Given the description of an element on the screen output the (x, y) to click on. 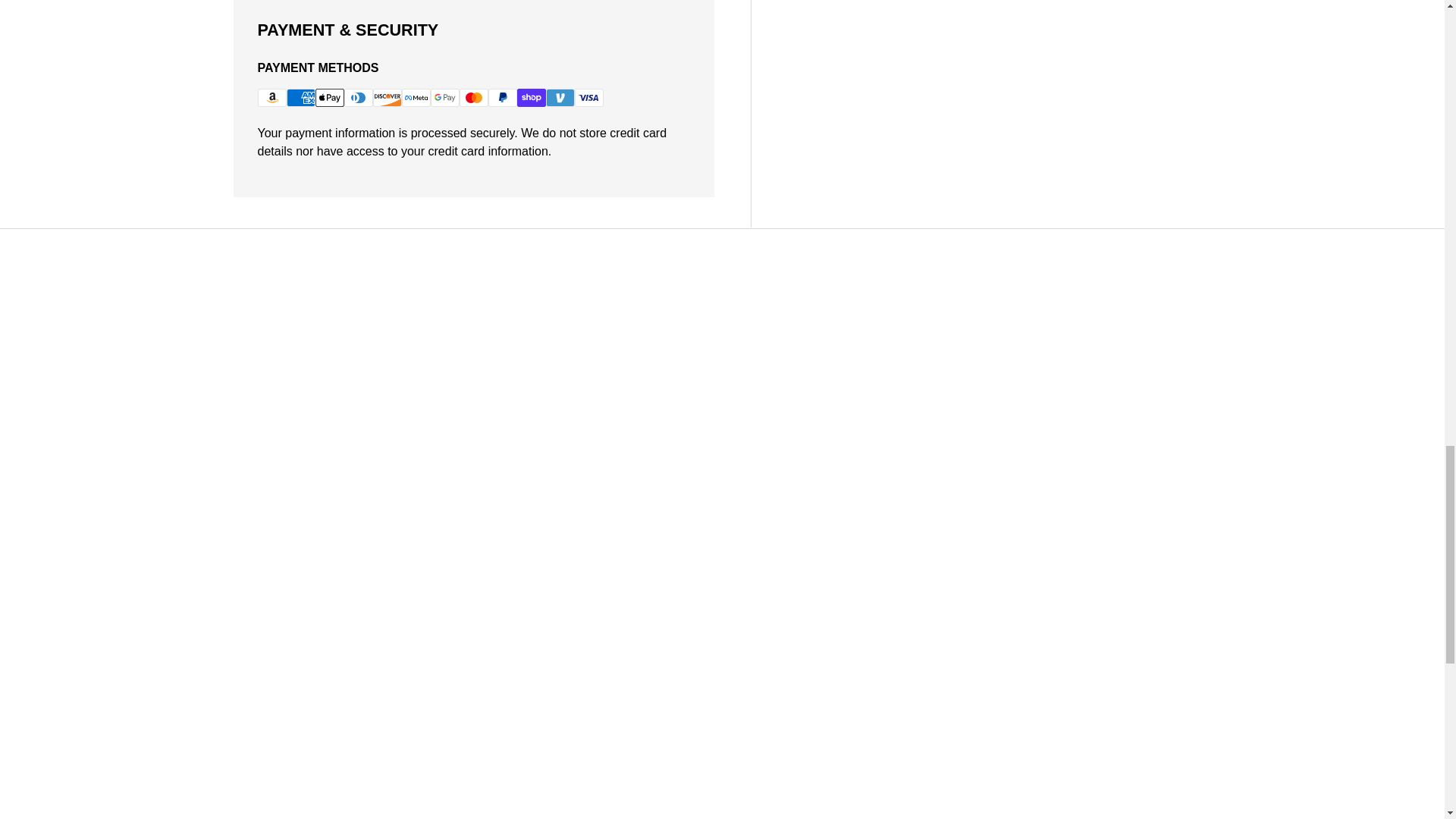
American Express (300, 97)
Apple Pay (329, 97)
Amazon (271, 97)
